Given the description of an element on the screen output the (x, y) to click on. 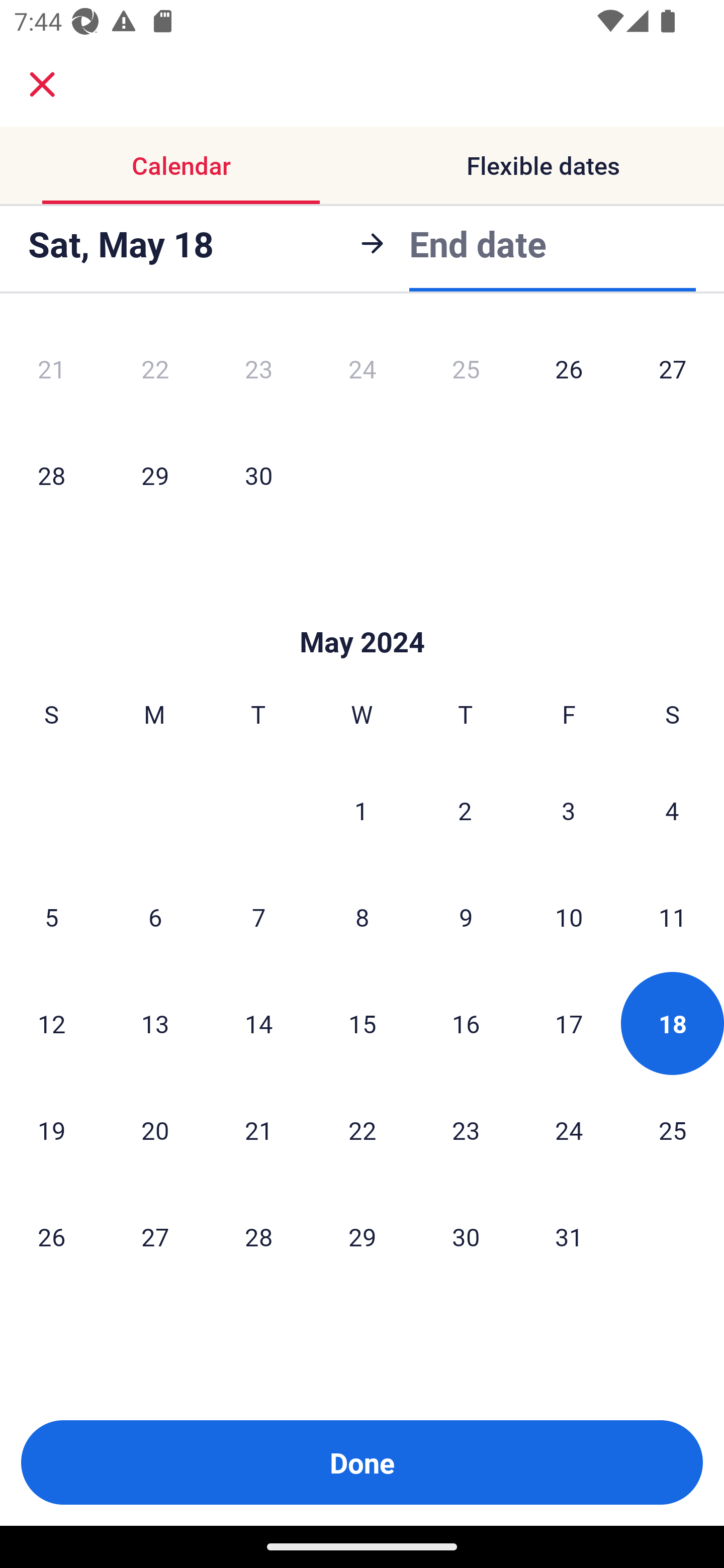
close. (42, 84)
Flexible dates (542, 164)
End date (477, 243)
21 Sunday, April 21, 2024 (51, 370)
22 Monday, April 22, 2024 (155, 370)
23 Tuesday, April 23, 2024 (258, 370)
24 Wednesday, April 24, 2024 (362, 370)
25 Thursday, April 25, 2024 (465, 370)
26 Friday, April 26, 2024 (569, 370)
27 Saturday, April 27, 2024 (672, 370)
28 Sunday, April 28, 2024 (51, 474)
29 Monday, April 29, 2024 (155, 474)
30 Tuesday, April 30, 2024 (258, 474)
Skip to Done (362, 611)
1 Wednesday, May 1, 2024 (361, 810)
2 Thursday, May 2, 2024 (464, 810)
3 Friday, May 3, 2024 (568, 810)
4 Saturday, May 4, 2024 (672, 810)
5 Sunday, May 5, 2024 (51, 917)
6 Monday, May 6, 2024 (155, 917)
7 Tuesday, May 7, 2024 (258, 917)
8 Wednesday, May 8, 2024 (362, 917)
9 Thursday, May 9, 2024 (465, 917)
10 Friday, May 10, 2024 (569, 917)
11 Saturday, May 11, 2024 (672, 917)
12 Sunday, May 12, 2024 (51, 1023)
13 Monday, May 13, 2024 (155, 1023)
14 Tuesday, May 14, 2024 (258, 1023)
15 Wednesday, May 15, 2024 (362, 1023)
16 Thursday, May 16, 2024 (465, 1023)
17 Friday, May 17, 2024 (569, 1023)
19 Sunday, May 19, 2024 (51, 1130)
20 Monday, May 20, 2024 (155, 1130)
21 Tuesday, May 21, 2024 (258, 1130)
22 Wednesday, May 22, 2024 (362, 1130)
23 Thursday, May 23, 2024 (465, 1130)
24 Friday, May 24, 2024 (569, 1130)
25 Saturday, May 25, 2024 (672, 1130)
26 Sunday, May 26, 2024 (51, 1236)
27 Monday, May 27, 2024 (155, 1236)
28 Tuesday, May 28, 2024 (258, 1236)
29 Wednesday, May 29, 2024 (362, 1236)
30 Thursday, May 30, 2024 (465, 1236)
31 Friday, May 31, 2024 (569, 1236)
Done (361, 1462)
